Given the description of an element on the screen output the (x, y) to click on. 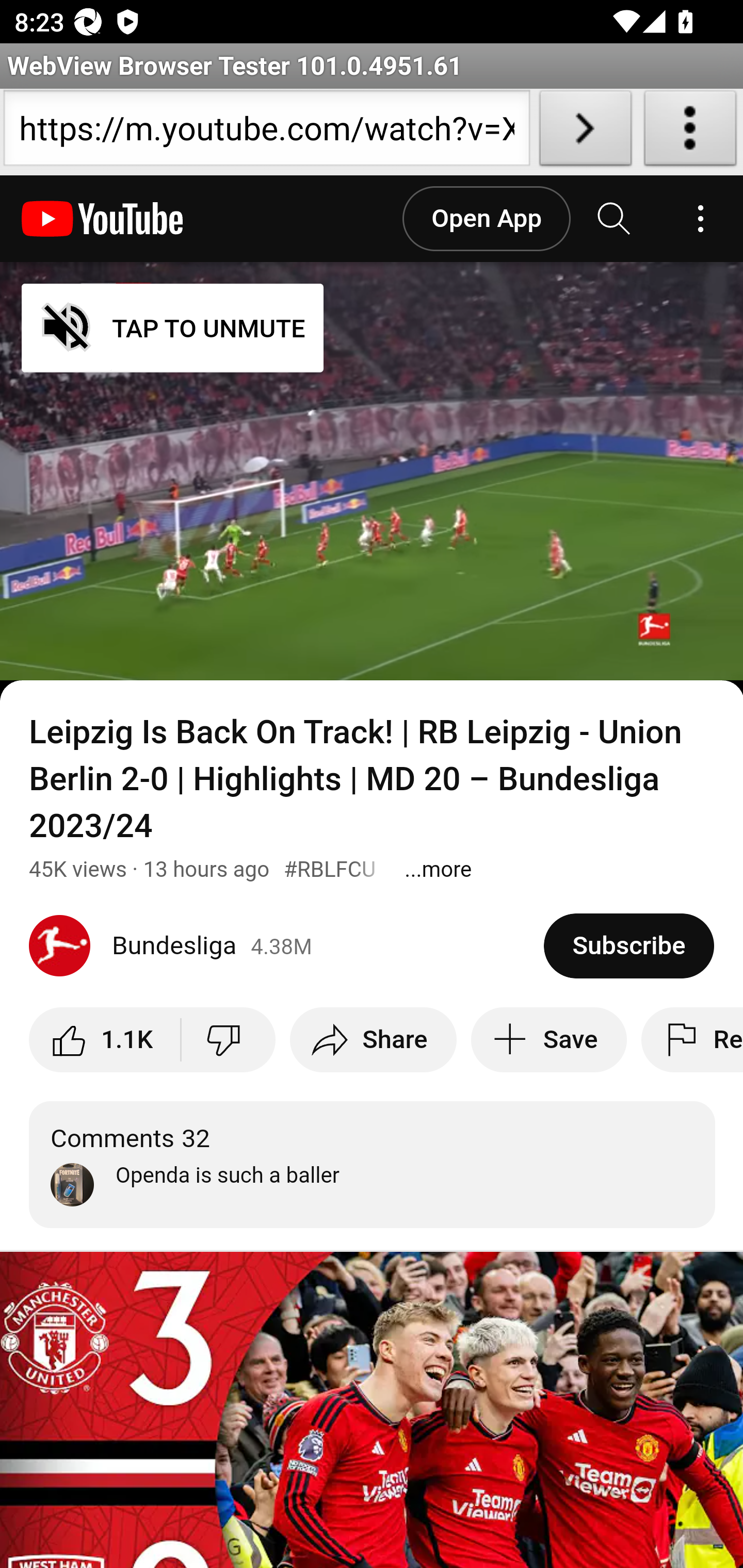
https://m.youtube.com/watch?v=XUR4BnUG4-I (266, 132)
Load URL (585, 132)
About WebView (690, 132)
YouTube (102, 219)
Search YouTube (614, 219)
Account (700, 219)
Open App (485, 218)
YouTube Video Player TAP TO UNMUTE (371, 470)
TAP TO UNMUTE (173, 328)
Show more (438, 869)
#RBLFCU (330, 869)
Subscribe to Bundesliga. 4.38M subscribers (627, 945)
Bundesliga (286, 946)
like this video along with 1,105 other people (105, 1038)
Dislike this video (228, 1038)
Share (372, 1038)
Save to playlist (548, 1038)
Report (690, 1038)
Comments (372, 1164)
